Given the description of an element on the screen output the (x, y) to click on. 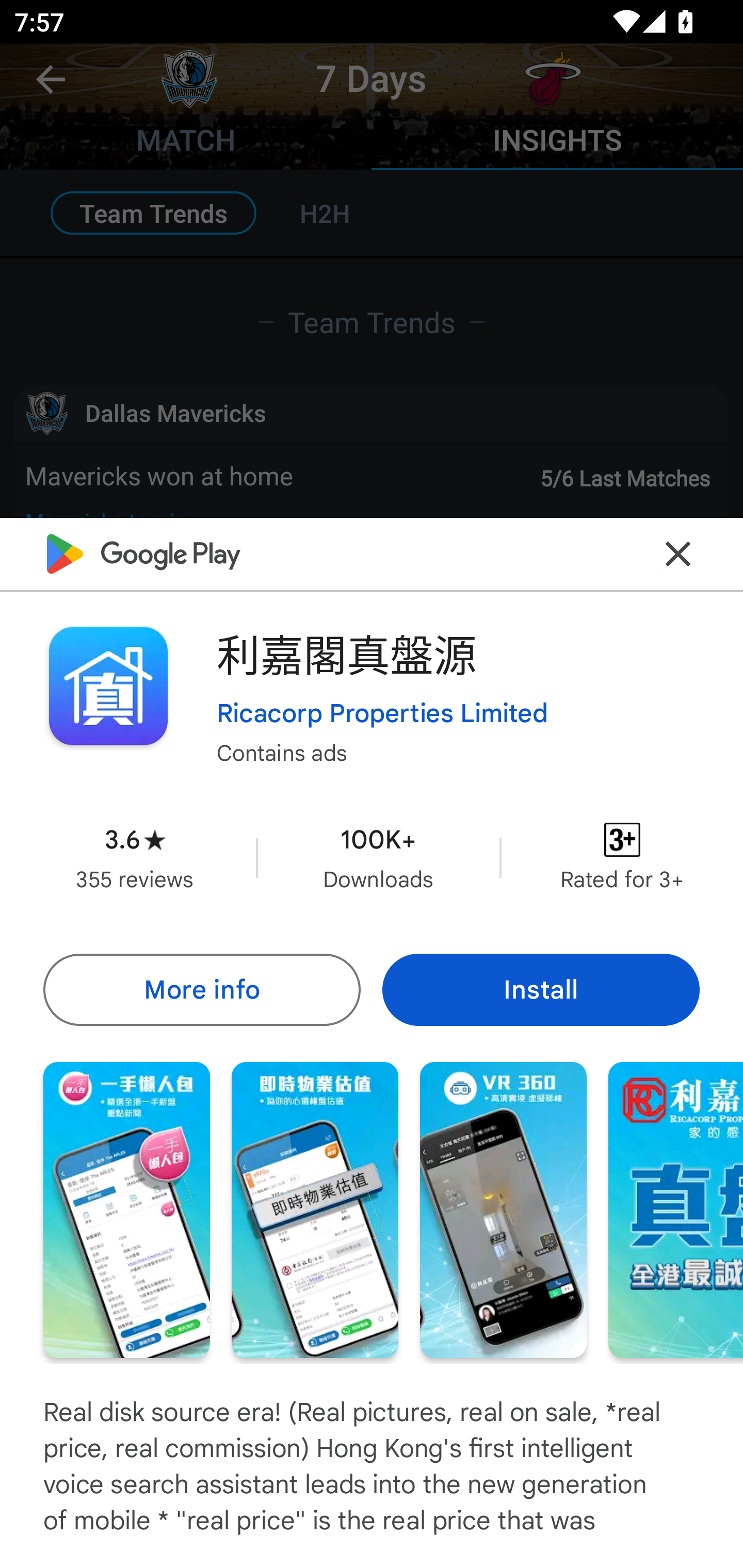
Close (677, 553)
Image of app or game icon for 利嘉閣真盤源 (108, 685)
Ricacorp Properties Limited (382, 712)
More info (201, 989)
Install (540, 989)
Screenshot "1" of "4" (126, 1209)
Screenshot "2" of "4" (314, 1209)
Screenshot "3" of "4" (502, 1209)
Screenshot "4" of "4" (675, 1209)
